Given the description of an element on the screen output the (x, y) to click on. 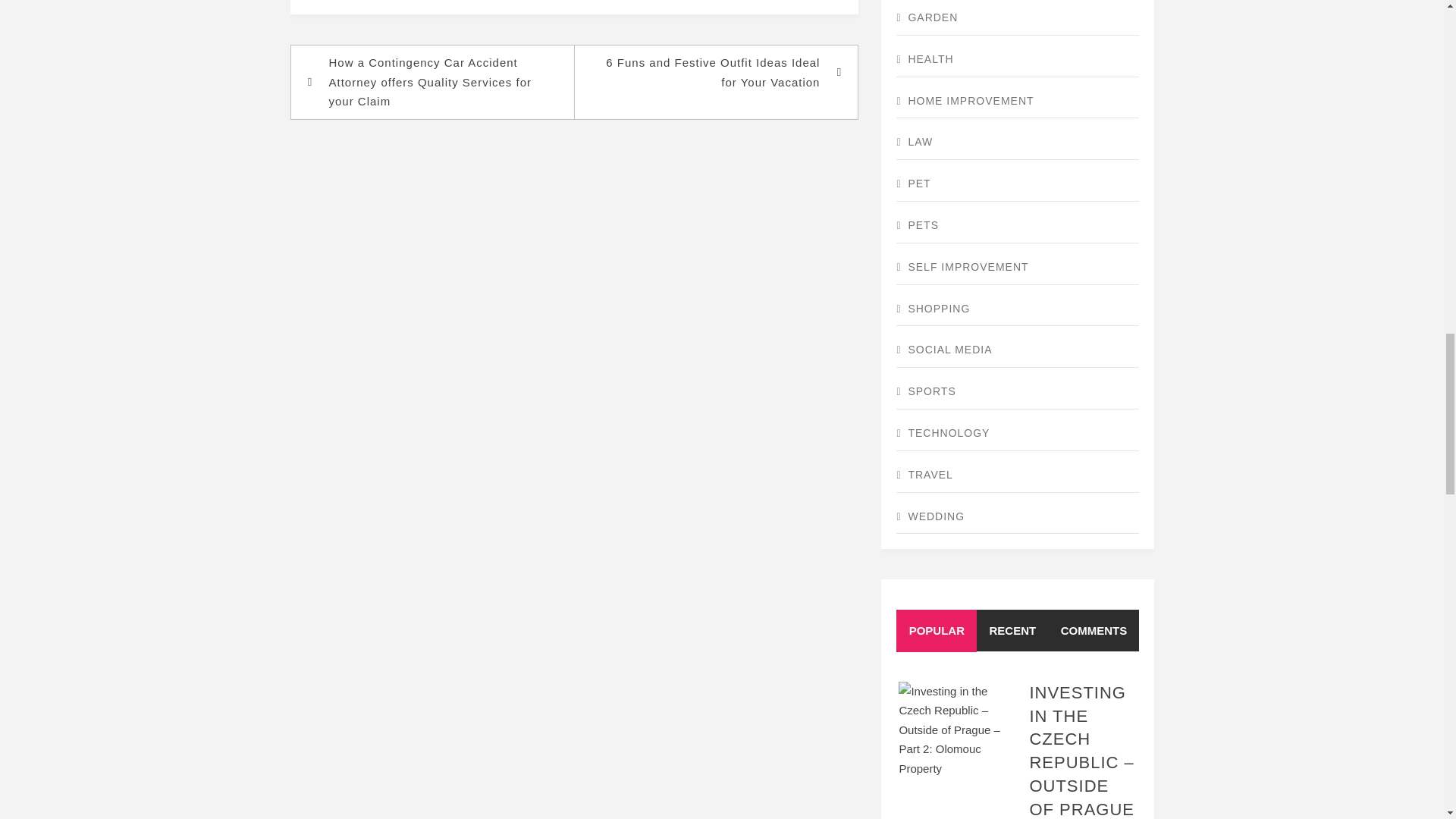
HEALTH (1017, 59)
LAW (1017, 142)
PETS (1017, 226)
GARDEN (1017, 18)
6 Funs and Festive Outfit Ideas Ideal for Your Vacation (708, 72)
HOME IMPROVEMENT (1017, 101)
PET (1017, 184)
